Given the description of an element on the screen output the (x, y) to click on. 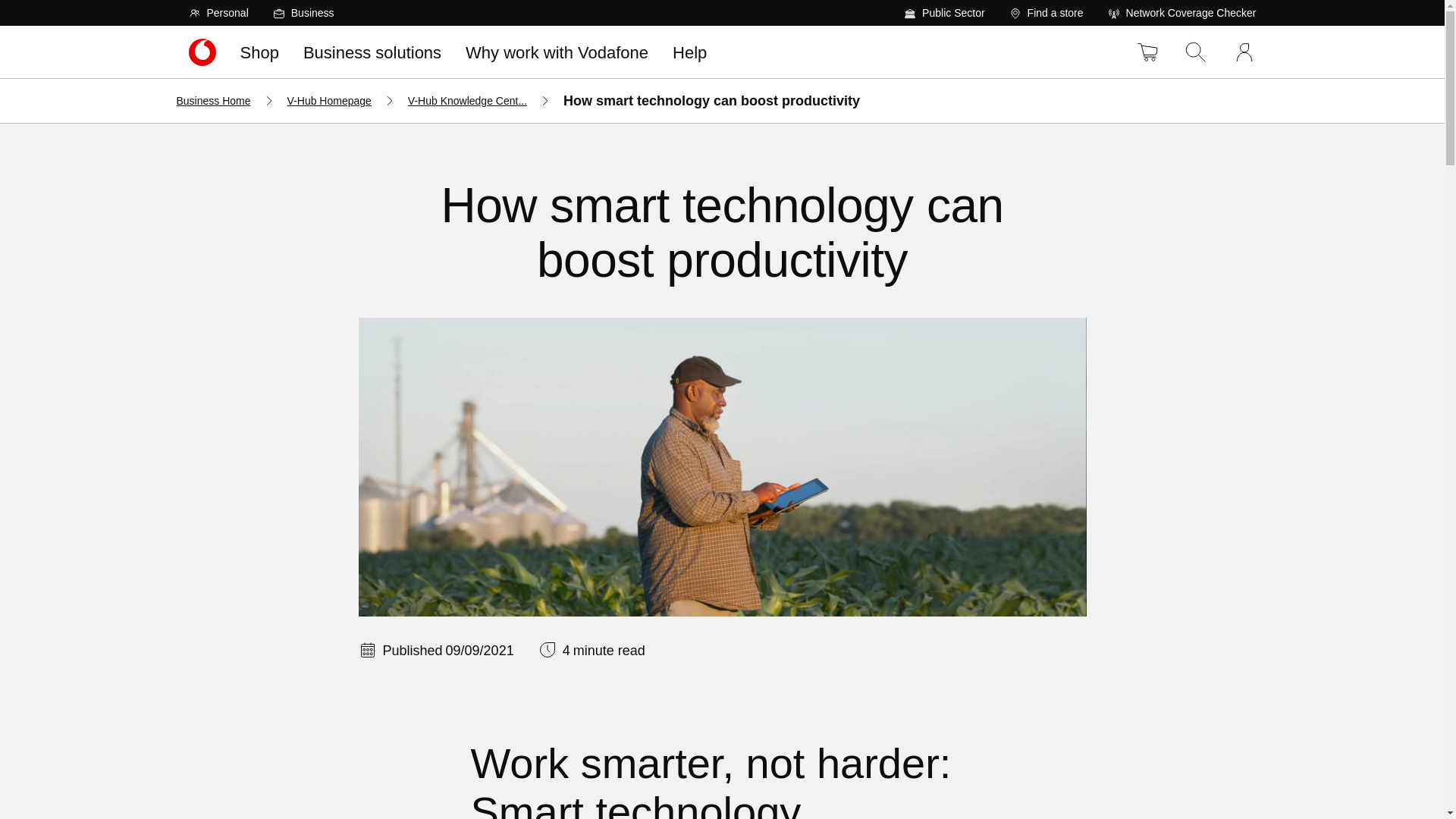
Network Coverage Checker (1182, 12)
Shop (258, 51)
Find a store (1046, 12)
Public Sector (943, 12)
Personal (218, 12)
Business solutions (371, 51)
Business (303, 12)
